Given the description of an element on the screen output the (x, y) to click on. 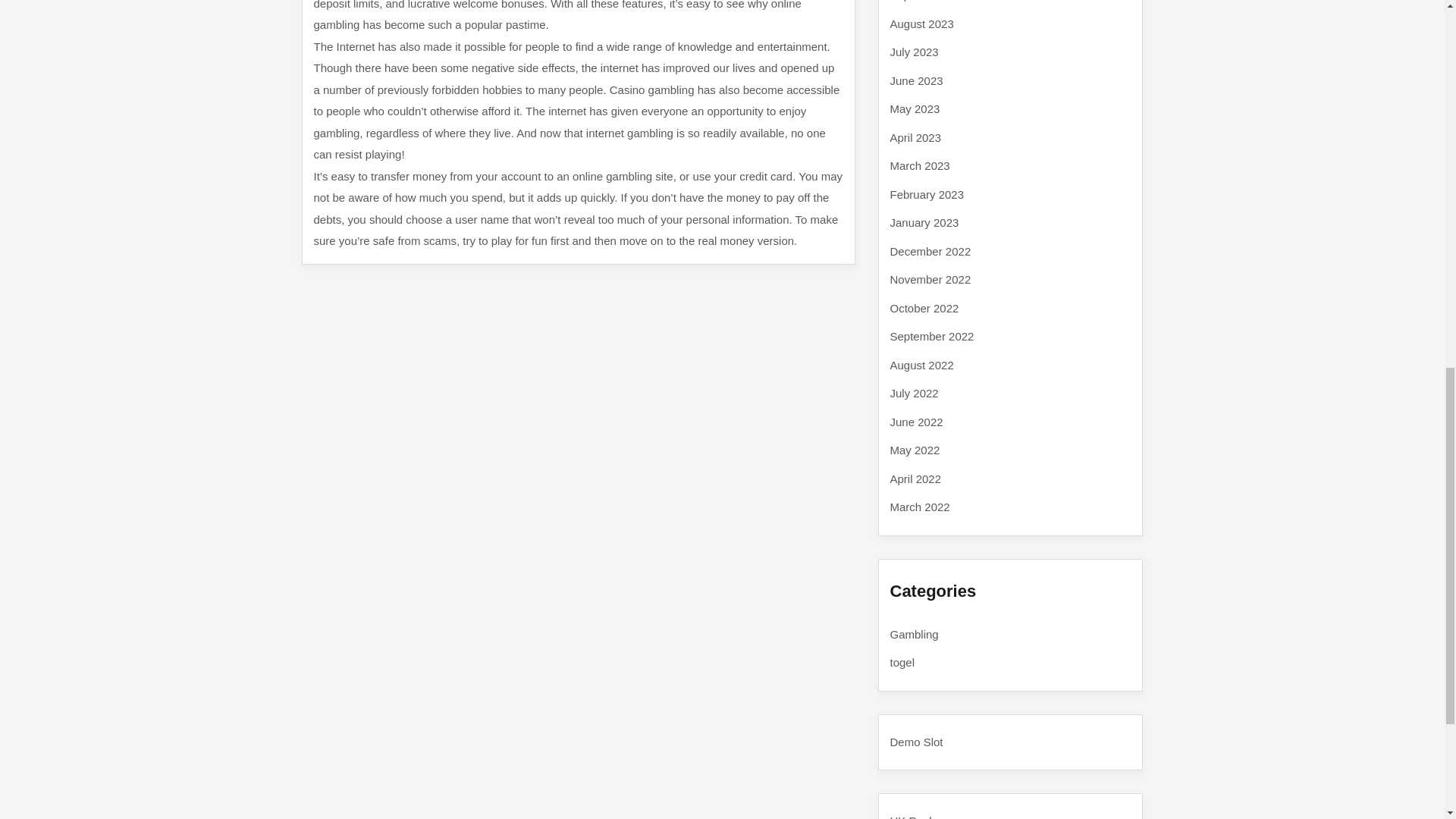
January 2023 (924, 222)
Gambling (914, 634)
July 2022 (914, 392)
November 2022 (930, 278)
September 2022 (931, 336)
October 2022 (924, 308)
April 2022 (915, 477)
August 2022 (921, 364)
February 2023 (926, 194)
August 2023 (921, 22)
April 2023 (915, 136)
March 2022 (919, 506)
March 2023 (919, 164)
May 2023 (914, 108)
December 2022 (930, 250)
